Given the description of an element on the screen output the (x, y) to click on. 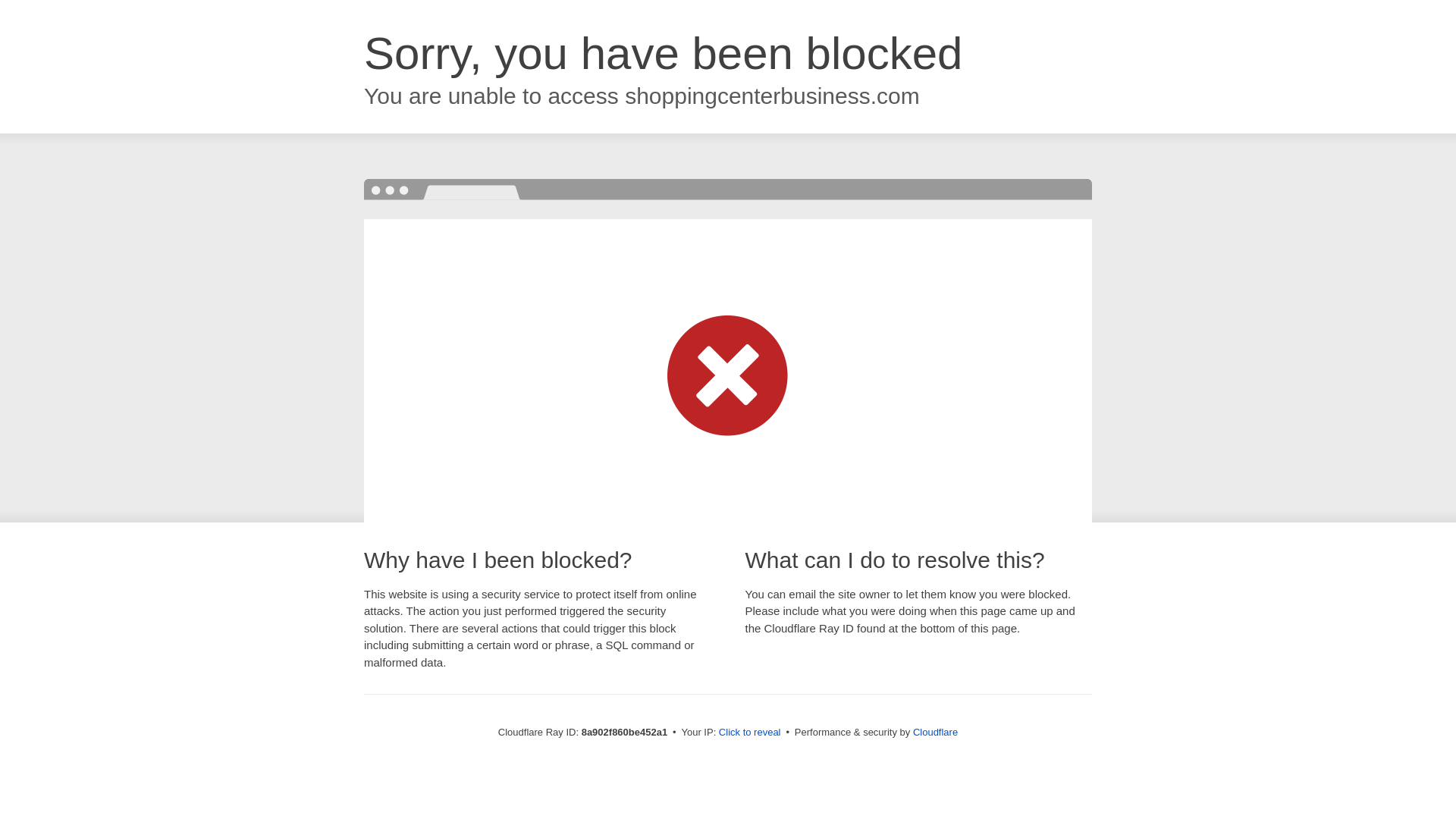
Click to reveal (749, 732)
Cloudflare (935, 731)
